Given the description of an element on the screen output the (x, y) to click on. 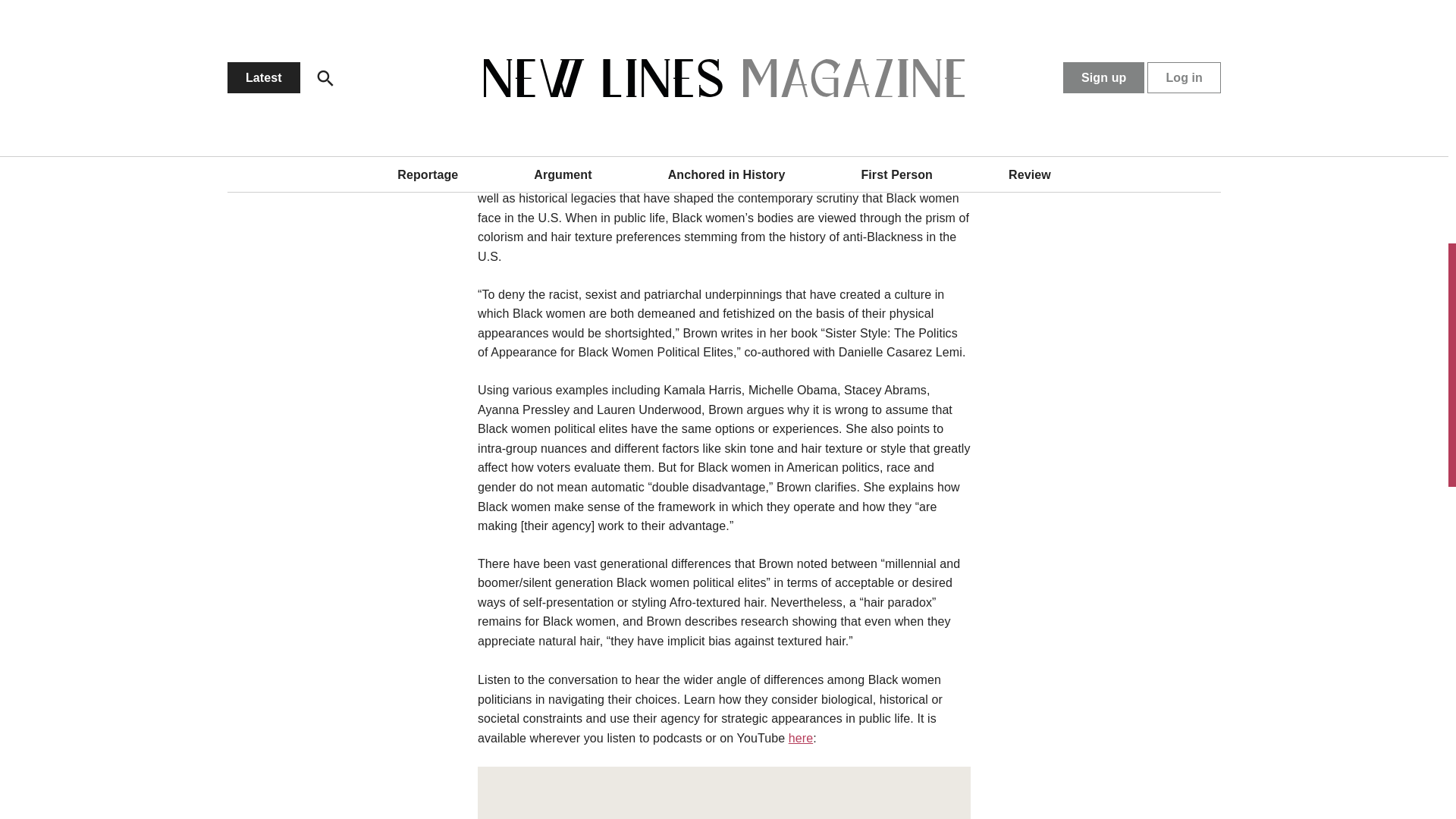
YouTube video player (723, 797)
here (800, 738)
